Given the description of an element on the screen output the (x, y) to click on. 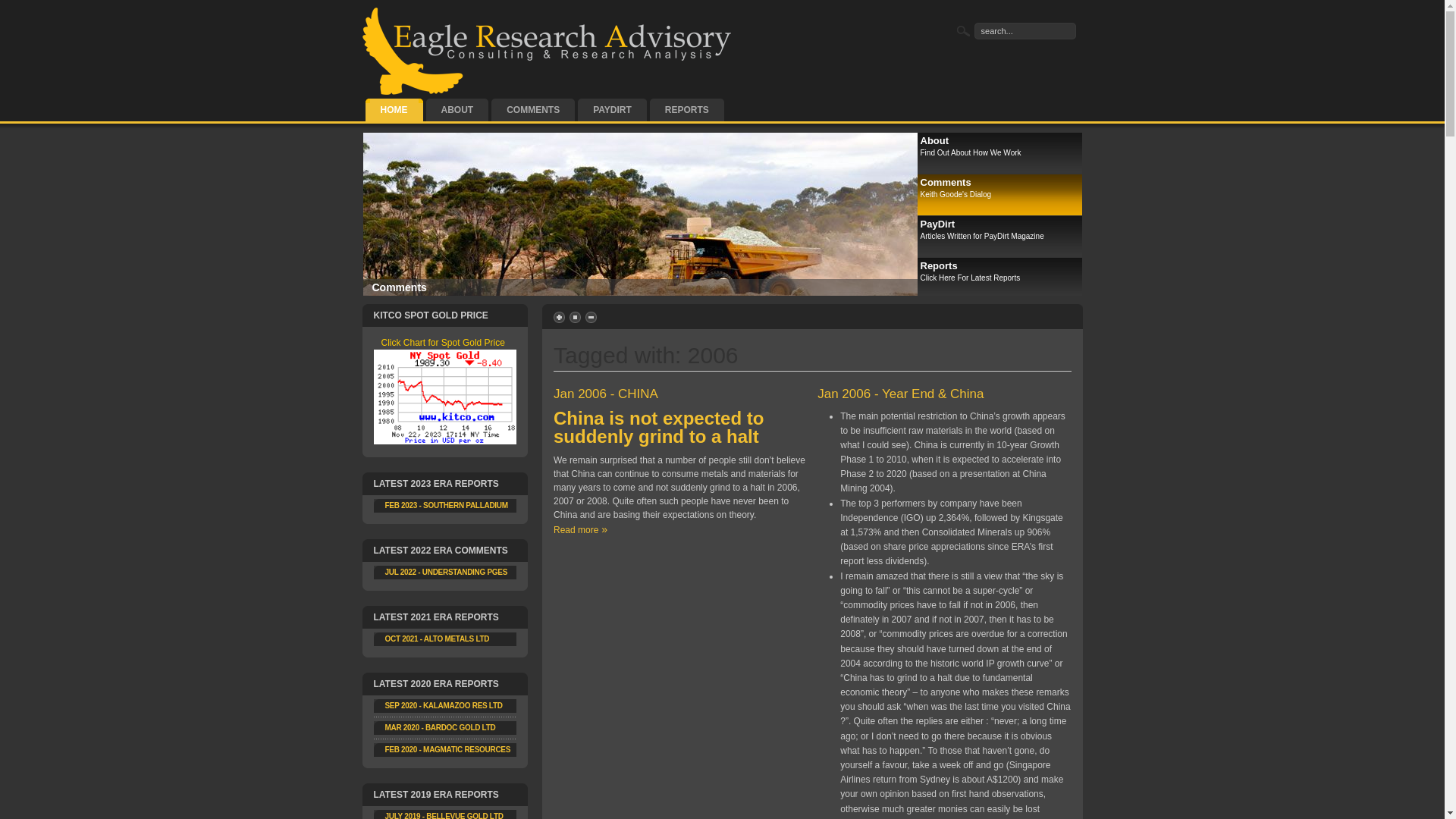
Decrease font size Element type: hover (592, 317)
About Element type: text (386, 287)
REPORTS Element type: text (686, 109)
Reports
Click Here For Latest Reports Element type: text (999, 278)
Jan 2006 - Year End & China Element type: text (900, 393)
MAR 2020 - BARDOC GOLD LTD Element type: text (440, 727)
Increase font size Element type: hover (560, 317)
Comments
Keith Goode's Dialog Element type: text (999, 195)
COMMENTS Element type: text (532, 109)
Default font size Element type: hover (576, 317)
FEB 2023 - SOUTHERN PALLADIUM Element type: text (446, 505)
Read more Element type: text (580, 529)
FEB 2020 - MAGMATIC RESOURCES Element type: text (448, 749)
JUL 2022 - UNDERSTANDING PGES Element type: text (446, 571)
PAYDIRT Element type: text (611, 109)
HOME Element type: text (394, 109)
OCT 2021 - ALTO METALS LTD Element type: text (437, 638)
About
Find Out About How We Work Element type: text (999, 153)
SEP 2020 - KALAMAZOO RES LTD Element type: text (443, 705)
ABOUT Element type: text (457, 109)
PayDirt
Articles Written for PayDirt Magazine Element type: text (999, 236)
Eagle Research Advisory Element type: hover (548, 51)
Jan 2006 - CHINA Element type: text (605, 393)
